Given the description of an element on the screen output the (x, y) to click on. 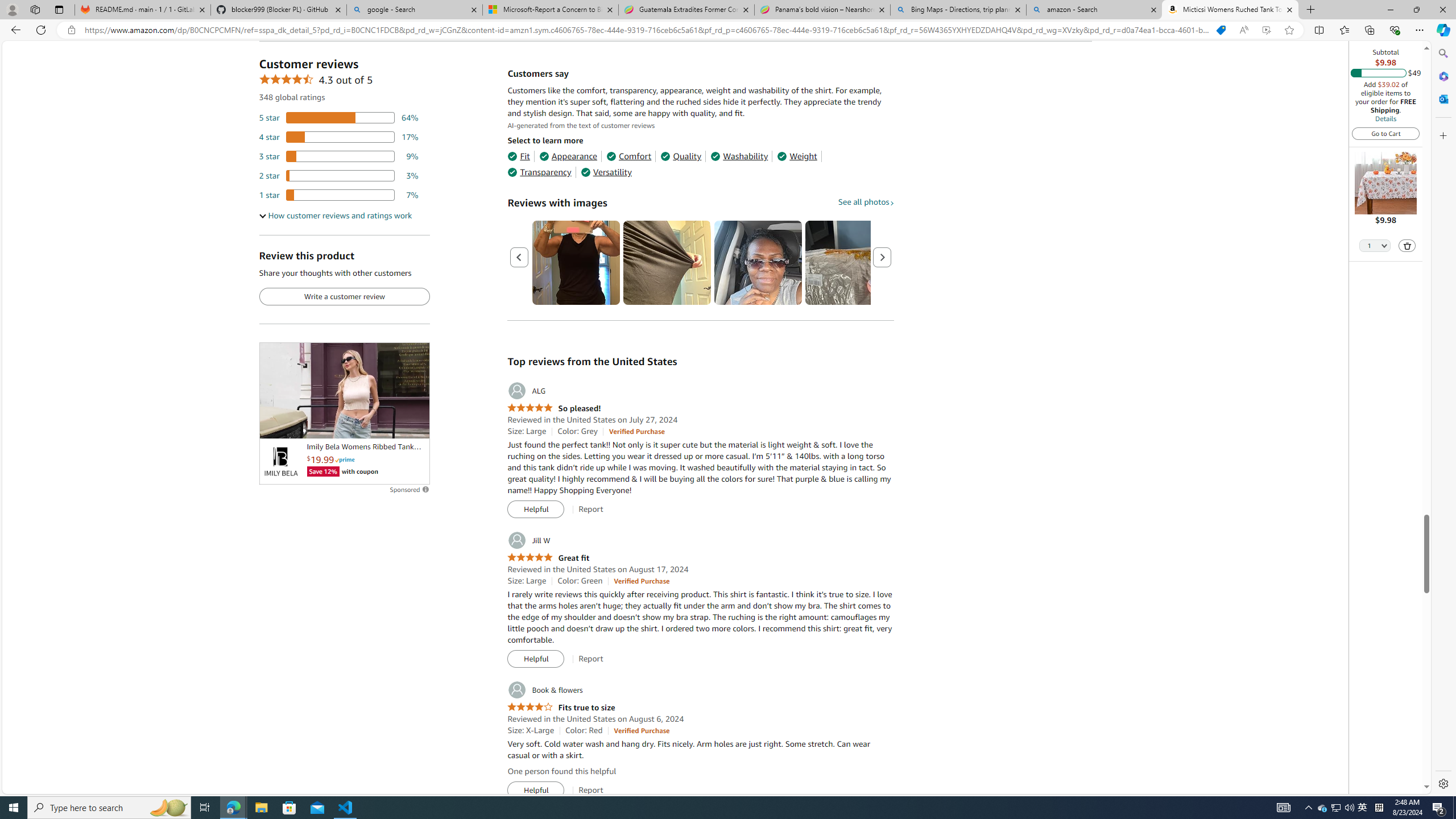
Weight (796, 156)
Washability (739, 156)
Helpful (536, 790)
9 percent of reviews have 3 stars (339, 156)
7 percent of reviews have 1 stars (339, 195)
amazon - Search (1094, 9)
See all photos (865, 201)
Write a customer review (344, 296)
